Given the description of an element on the screen output the (x, y) to click on. 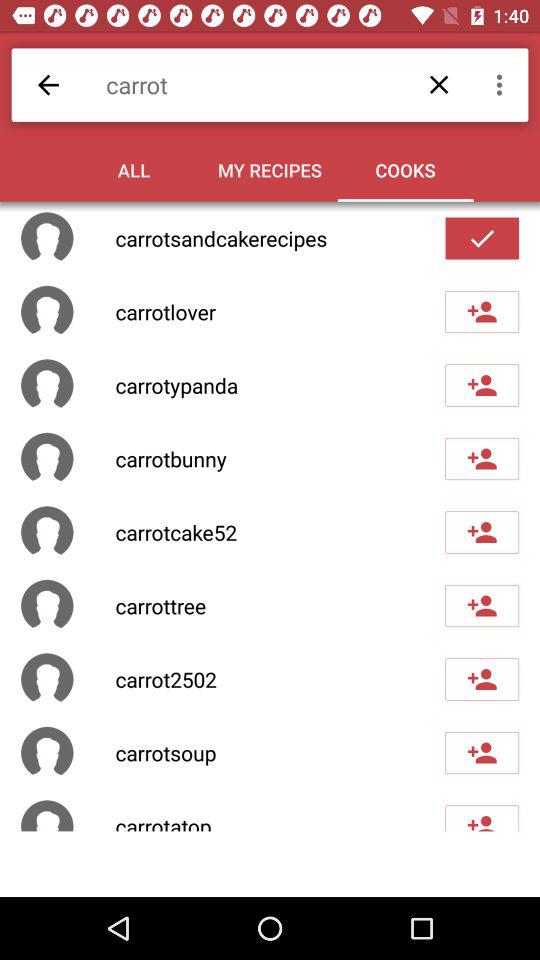
select the item next to the carrot icon (48, 84)
